Given the description of an element on the screen output the (x, y) to click on. 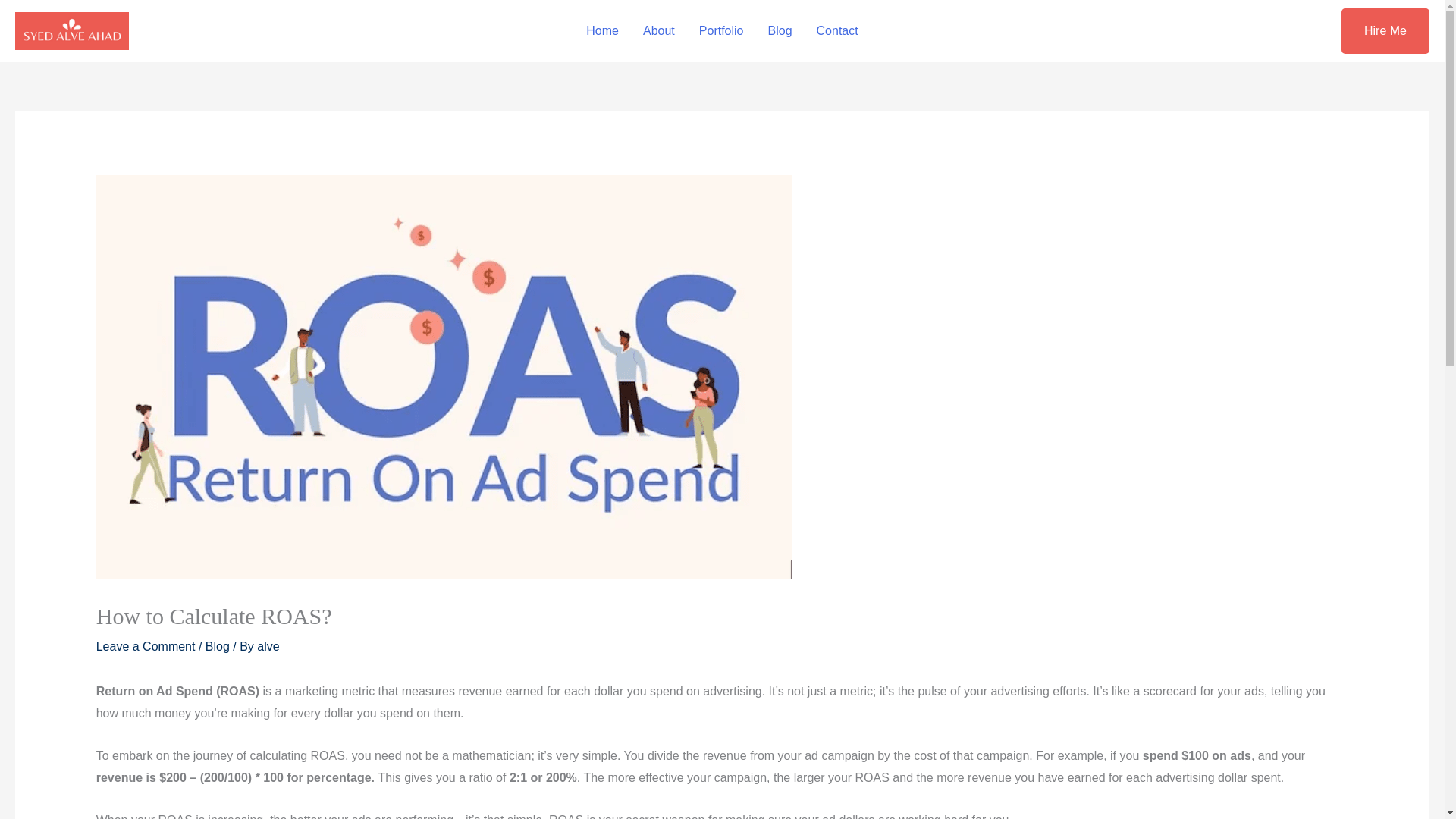
alve (268, 645)
View all posts by alve (268, 645)
Blog (780, 30)
Home (601, 30)
Portfolio (721, 30)
Hire Me (1384, 31)
Leave a Comment (145, 645)
Blog (217, 645)
Contact (837, 30)
About (658, 30)
